Given the description of an element on the screen output the (x, y) to click on. 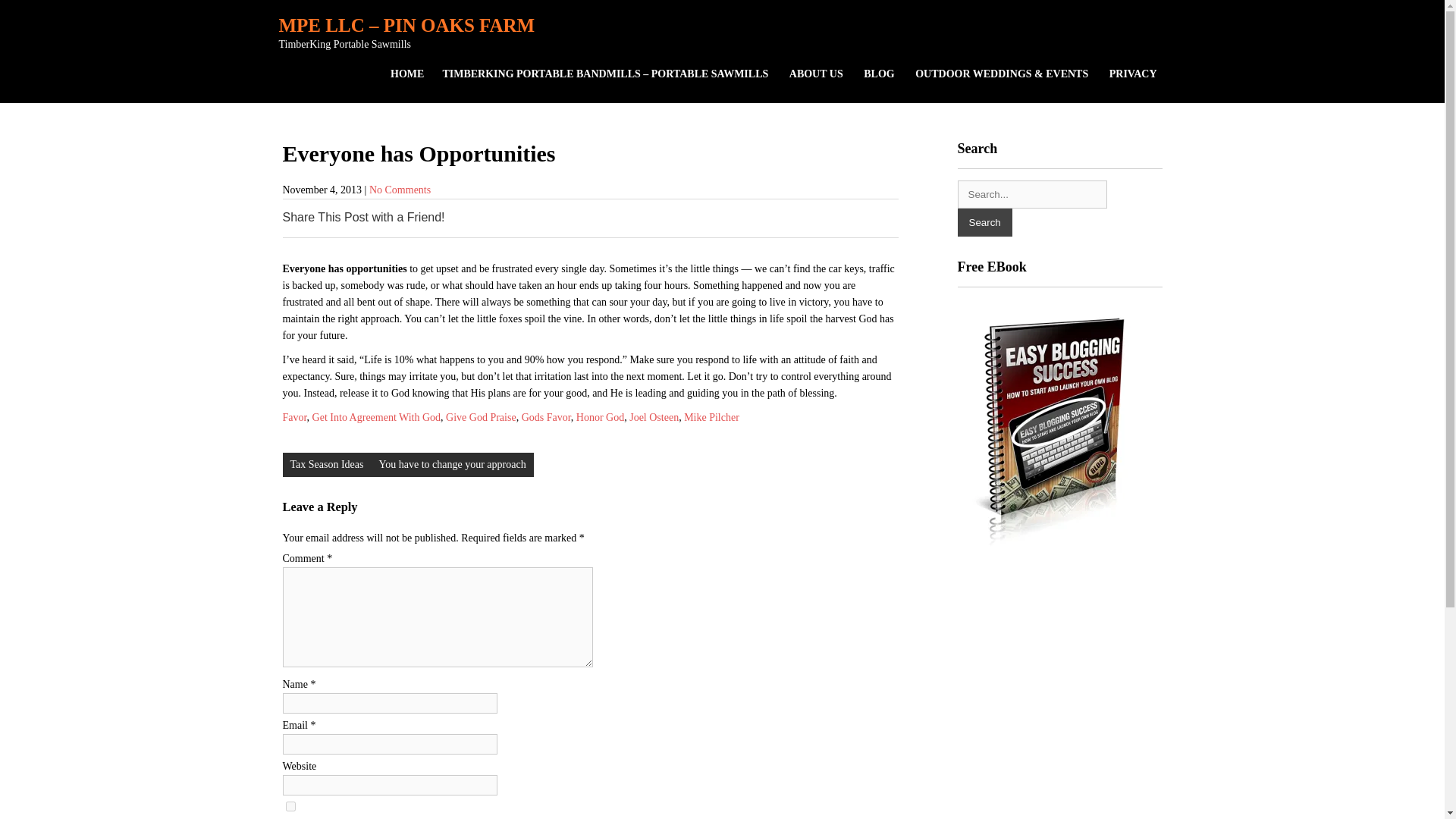
Honor God (600, 417)
Joel Osteen (653, 417)
Get Into Agreement With God (377, 417)
Be the first one to tweet this article! (568, 218)
HOME (406, 74)
Give God Praise (480, 417)
Search (983, 222)
Gods Favor (545, 417)
Search (983, 222)
Search (983, 222)
